Given the description of an element on the screen output the (x, y) to click on. 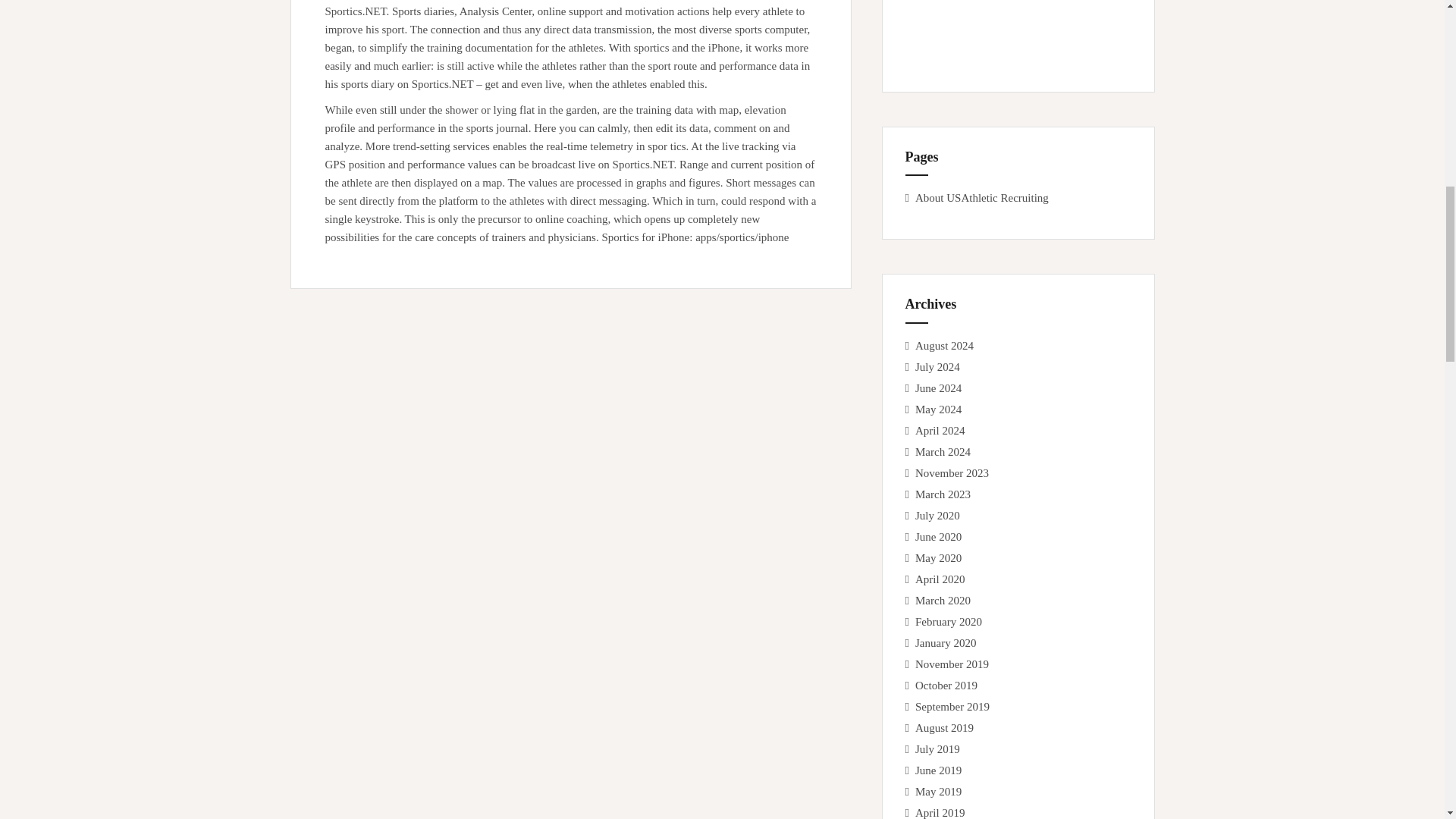
July 2019 (937, 748)
January 2020 (945, 643)
November 2019 (951, 664)
July 2024 (937, 367)
September 2019 (952, 706)
August 2024 (944, 345)
June 2020 (937, 536)
March 2024 (943, 451)
May 2020 (937, 558)
June 2024 (937, 387)
